Given the description of an element on the screen output the (x, y) to click on. 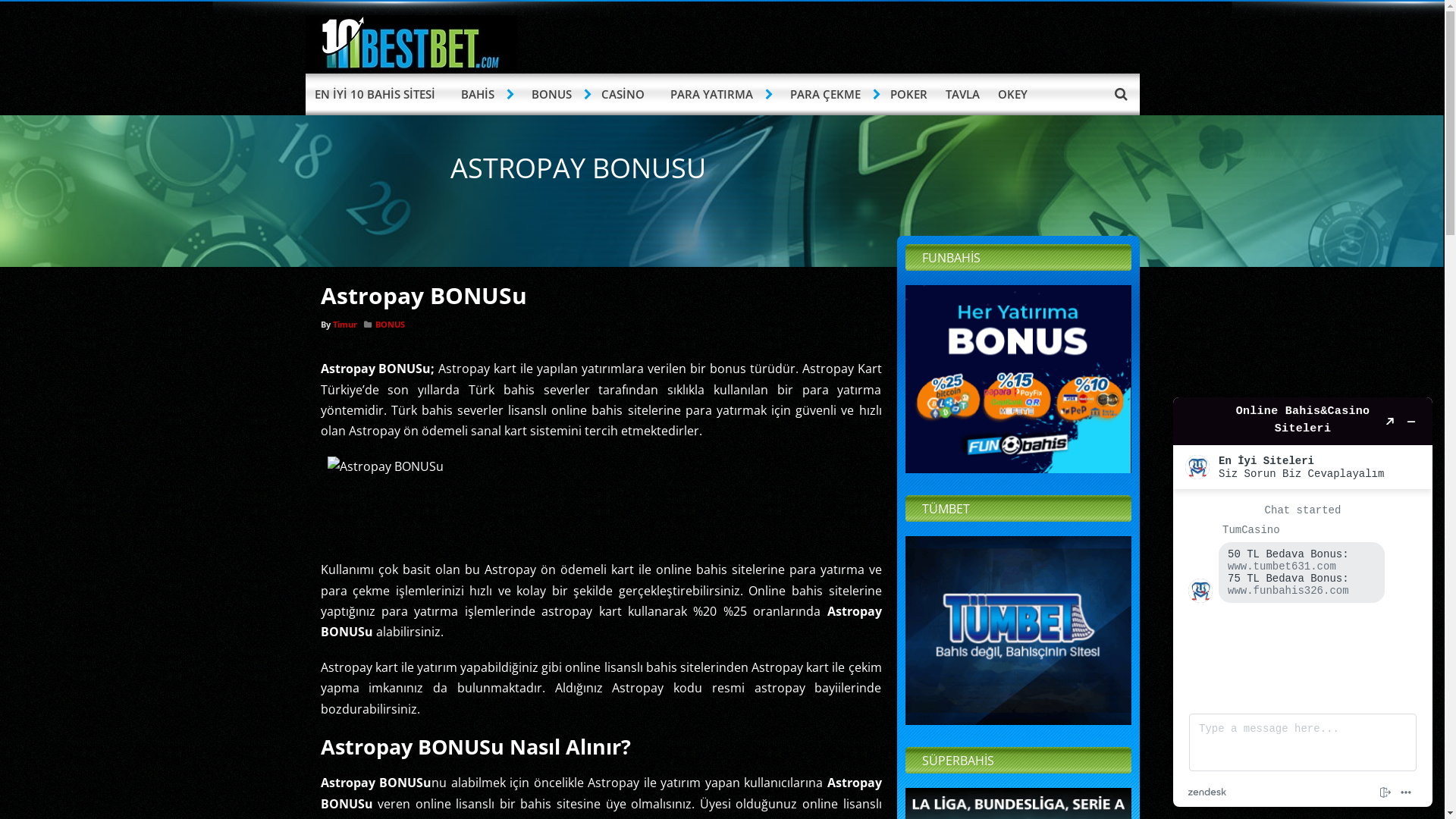
Funbahis Element type: hover (1018, 379)
BAHIS Element type: text (479, 94)
OKEY Element type: text (1012, 94)
PARA YATIRMA Element type: text (713, 94)
BONUS Element type: text (389, 323)
En iyi 10 BAHIS SITESI Element type: hover (410, 66)
Timur Element type: text (344, 323)
BONUS Element type: text (552, 94)
POKER Element type: text (908, 94)
Search Element type: hover (1120, 93)
TAVLA Element type: text (961, 94)
CASINO Element type: text (621, 94)
